Given the description of an element on the screen output the (x, y) to click on. 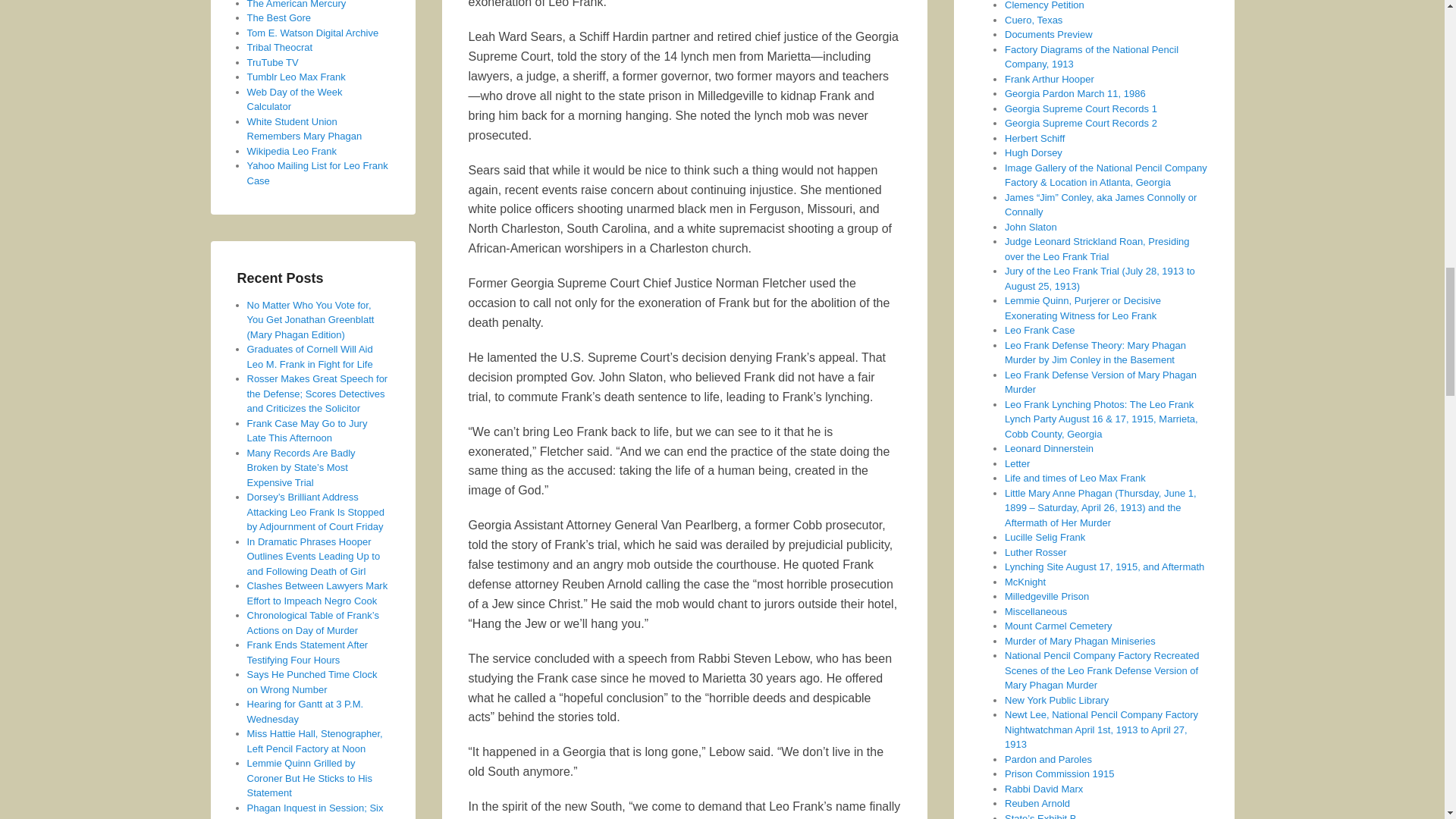
Christian Perspective on Leo Frank Case (280, 47)
